Given the description of an element on the screen output the (x, y) to click on. 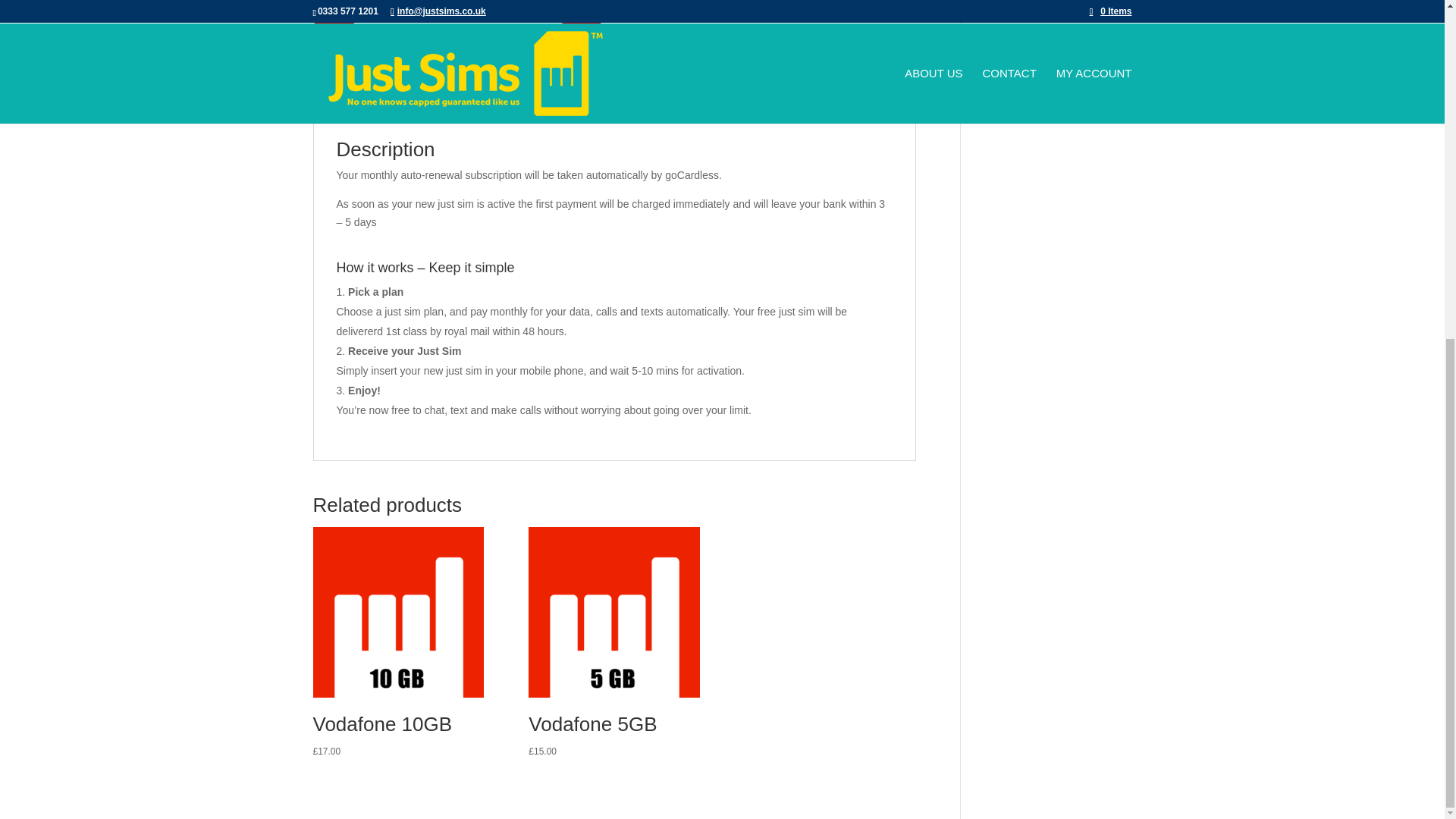
vodafone-ultd (457, 33)
Description (358, 103)
